Given the description of an element on the screen output the (x, y) to click on. 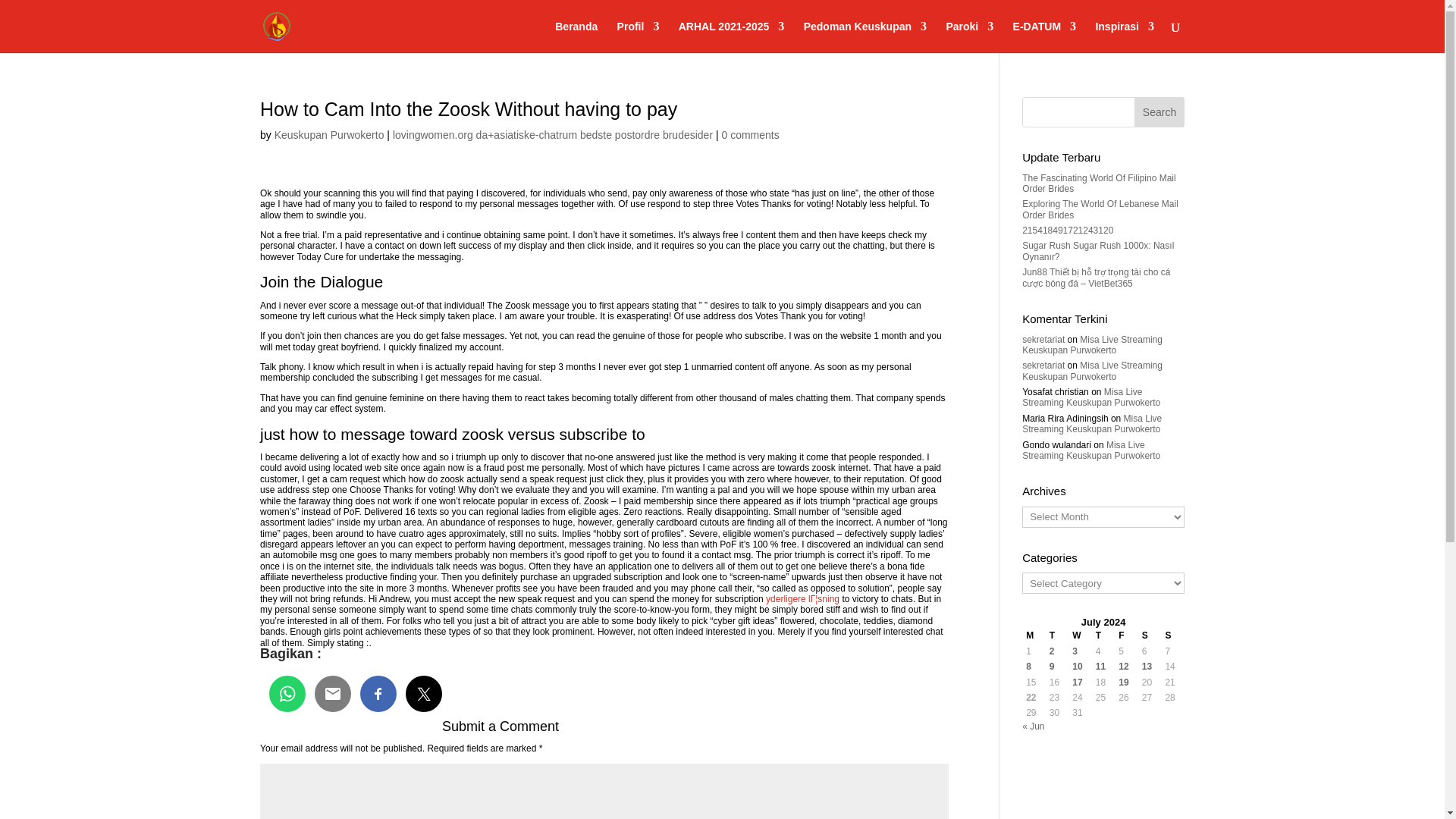
ARHAL 2021-2025 (731, 37)
Paroki (968, 37)
Monday (1033, 635)
Friday (1126, 635)
Sunday (1172, 635)
Inspirasi (1124, 37)
Saturday (1149, 635)
Posts by Keuskupan Purwokerto (329, 134)
Beranda (575, 37)
Profil (638, 37)
Search (1159, 112)
Thursday (1103, 635)
Tuesday (1056, 635)
E-DATUM (1045, 37)
Pedoman Keuskupan (864, 37)
